Given the description of an element on the screen output the (x, y) to click on. 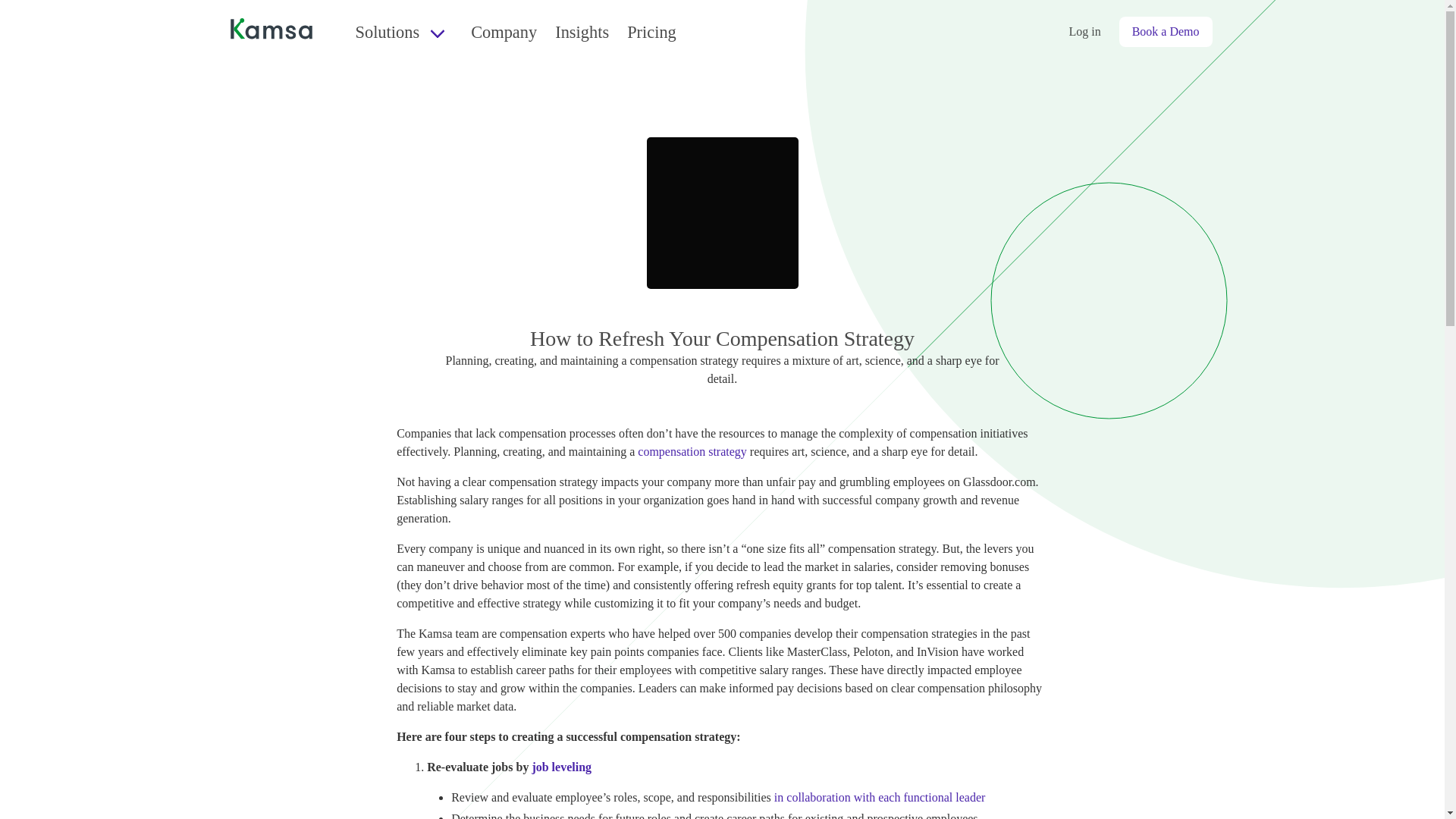
Logo (270, 32)
Insights (581, 32)
Company (503, 32)
Log in (1084, 31)
in collaboration with each functional leader (879, 797)
compensation strategy (691, 451)
Pricing (651, 32)
Book a Demo (1165, 31)
